Given the description of an element on the screen output the (x, y) to click on. 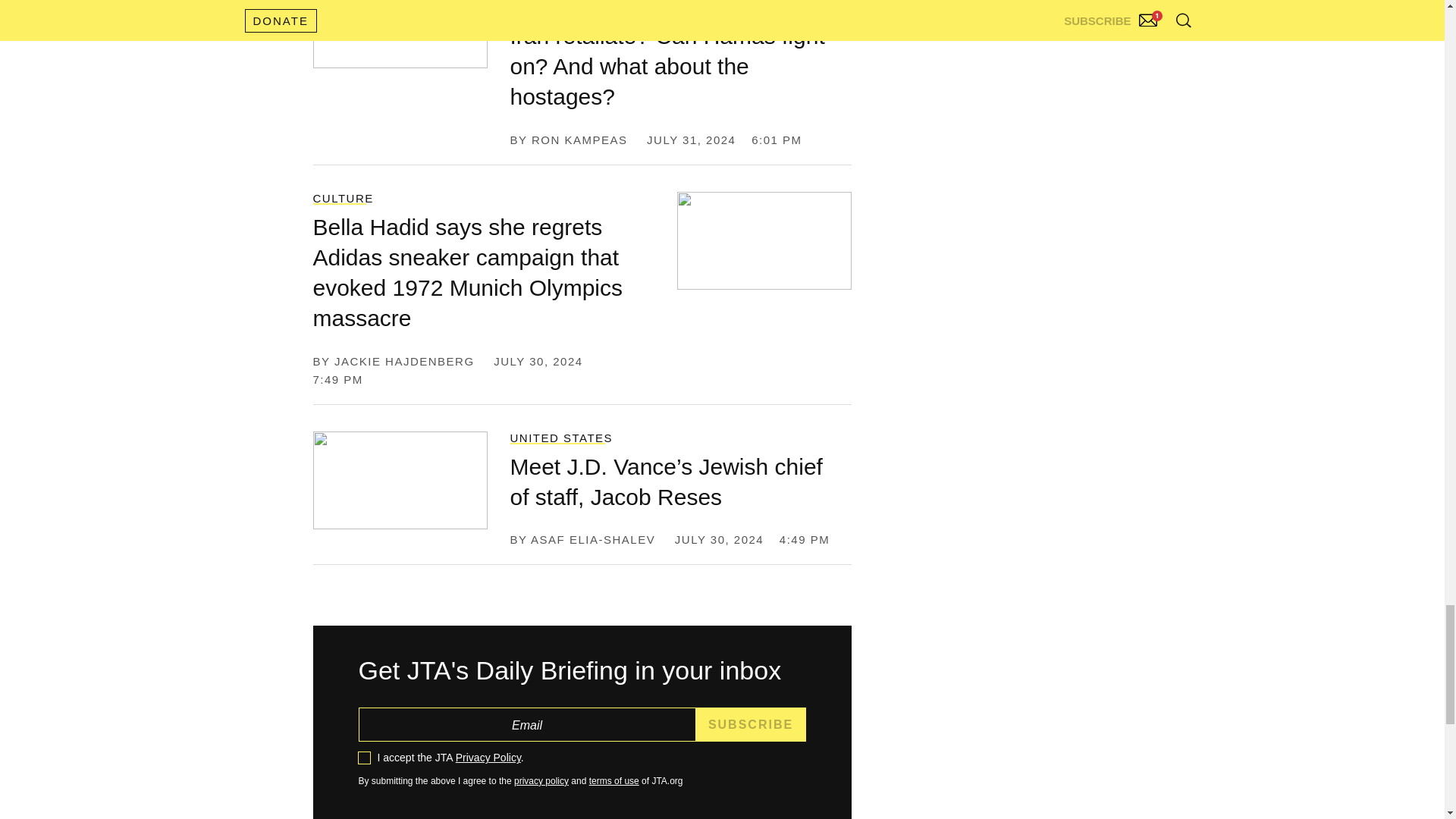
Subscribe (750, 724)
